Given the description of an element on the screen output the (x, y) to click on. 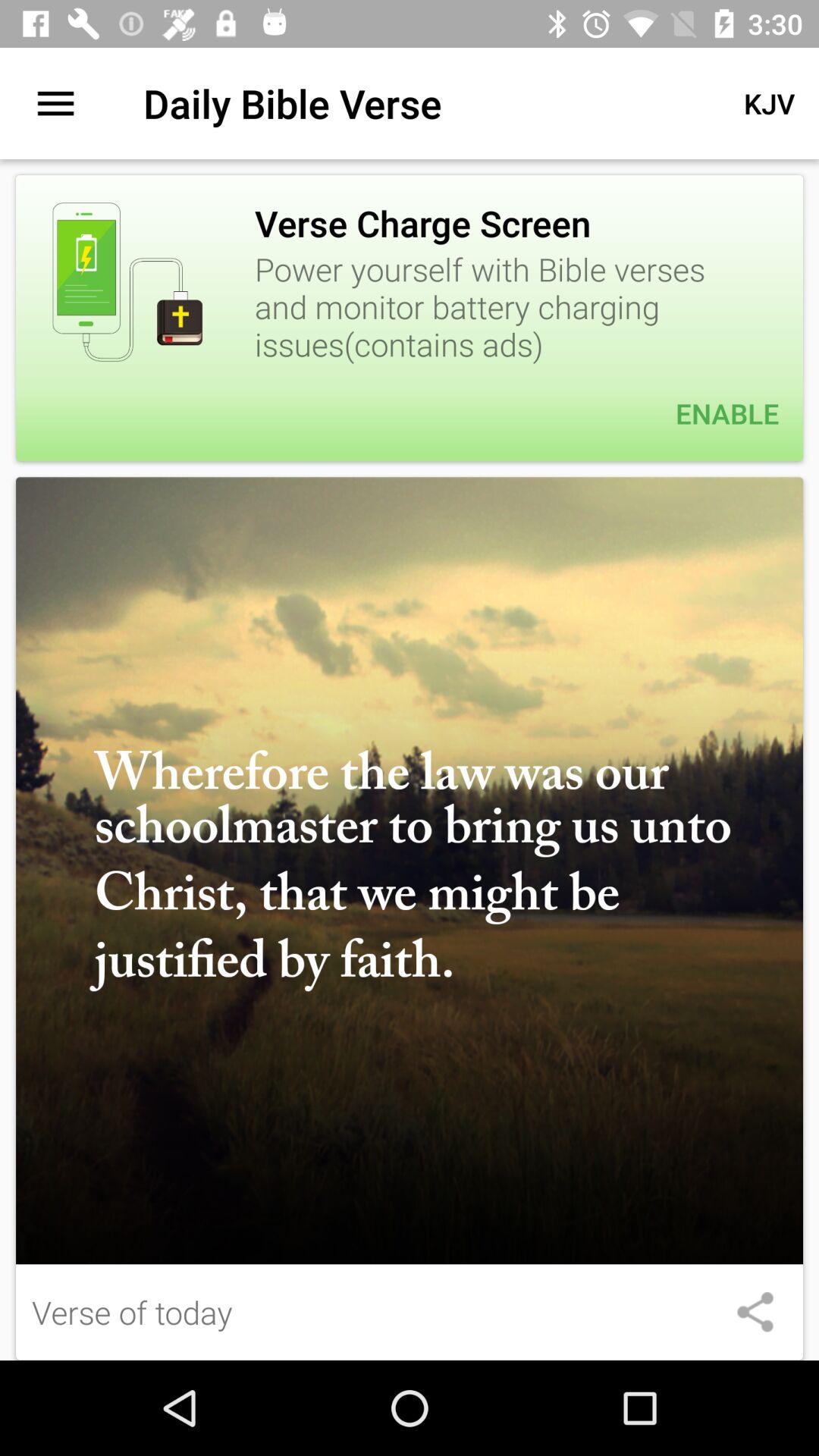
turn off app to the right of the daily bible verse item (769, 103)
